Given the description of an element on the screen output the (x, y) to click on. 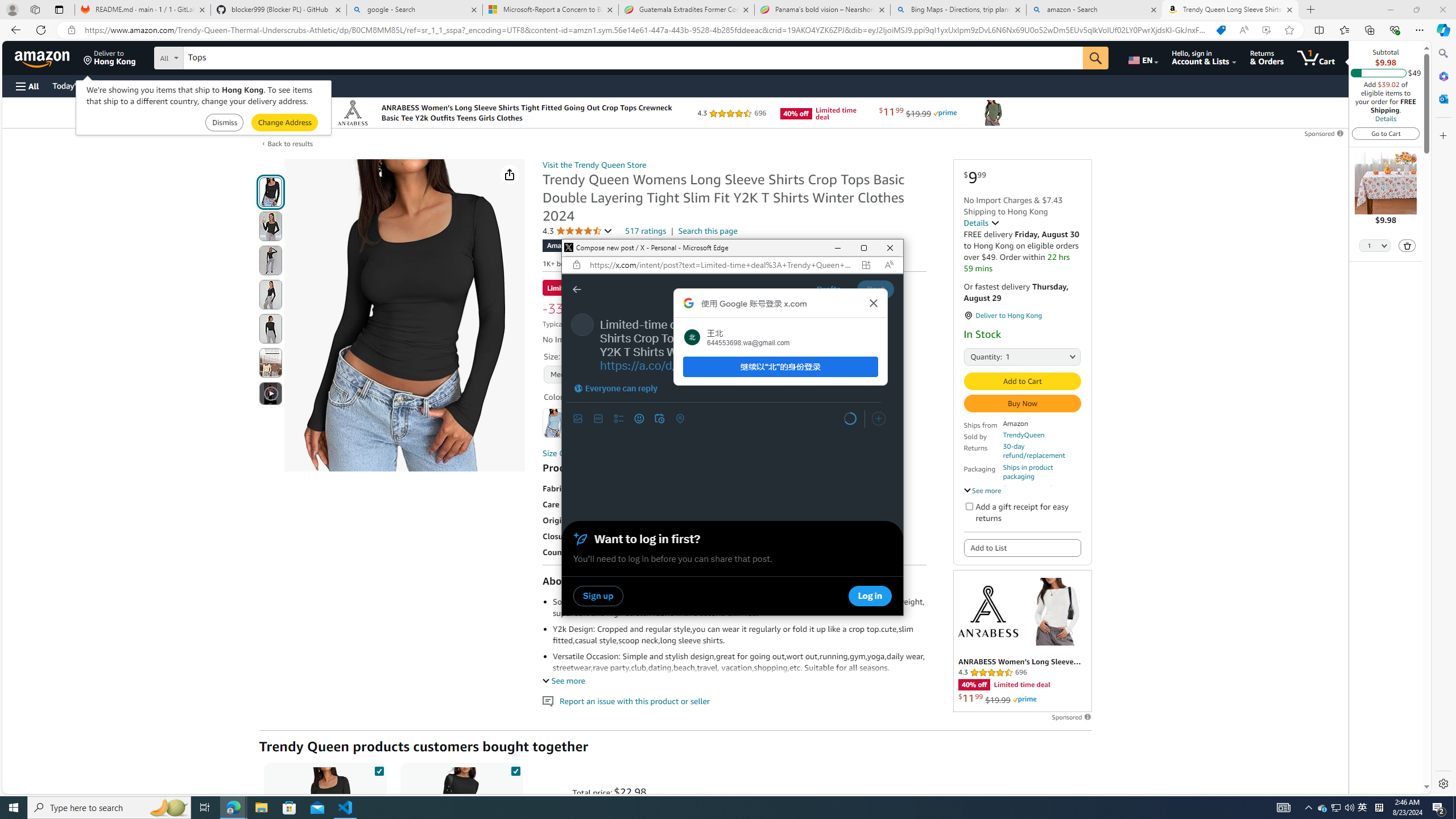
Logo (987, 611)
Add to Cart (1021, 381)
File Explorer (261, 807)
Quantity Selector (1374, 246)
Post (875, 289)
Task View (204, 807)
